Given the description of an element on the screen output the (x, y) to click on. 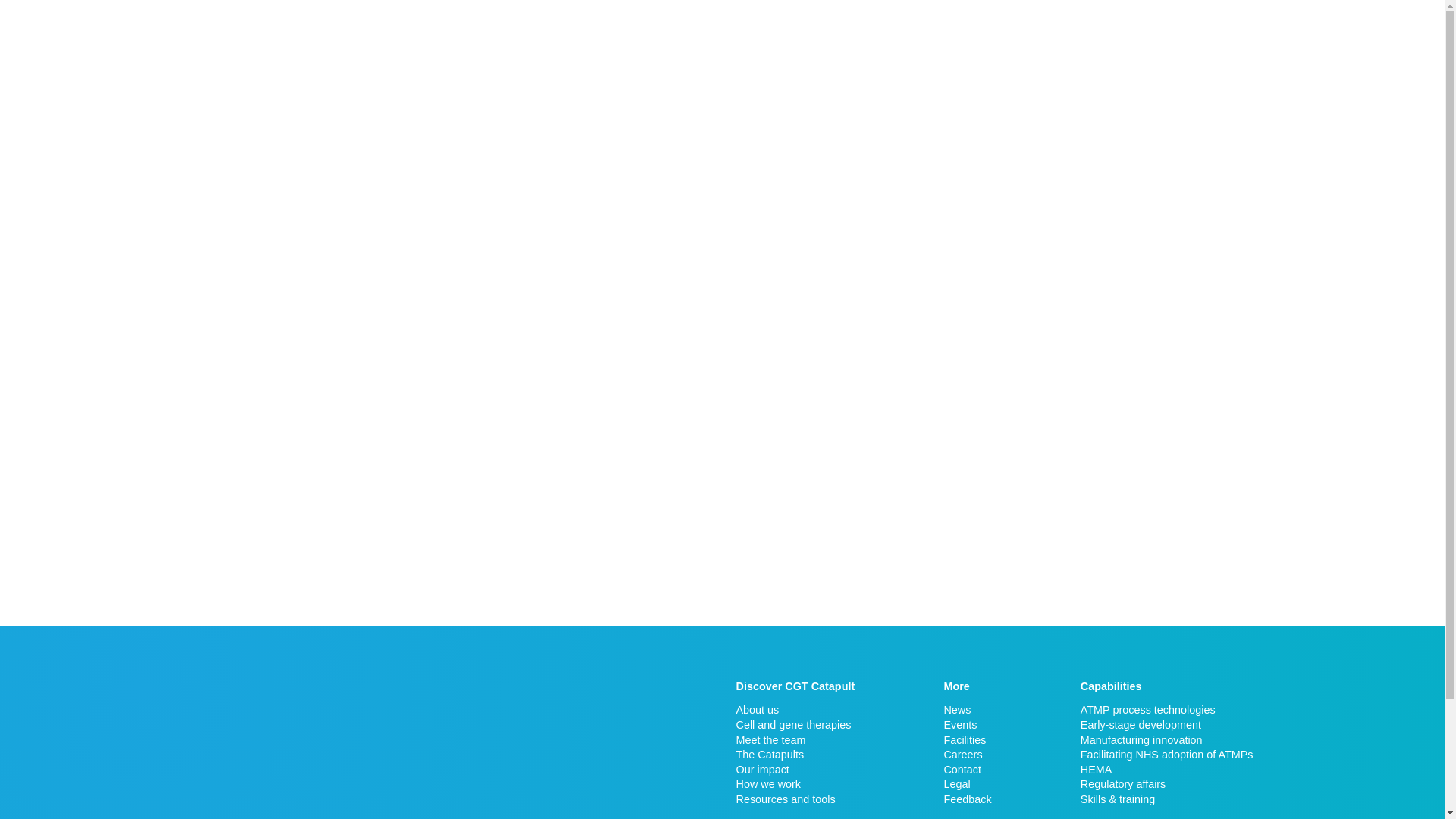
The Catapults (794, 754)
ATMP process technologies (1166, 710)
Careers (967, 754)
Cell and gene therapies (794, 724)
How we work (794, 784)
Legal (967, 784)
Feedback (967, 798)
Manufacturing innovation (1166, 739)
Contact (967, 769)
Meet the team (794, 739)
News (967, 710)
Events (967, 724)
Regulatory affairs (1166, 784)
HEMA (1166, 769)
iframe (358, 736)
